Given the description of an element on the screen output the (x, y) to click on. 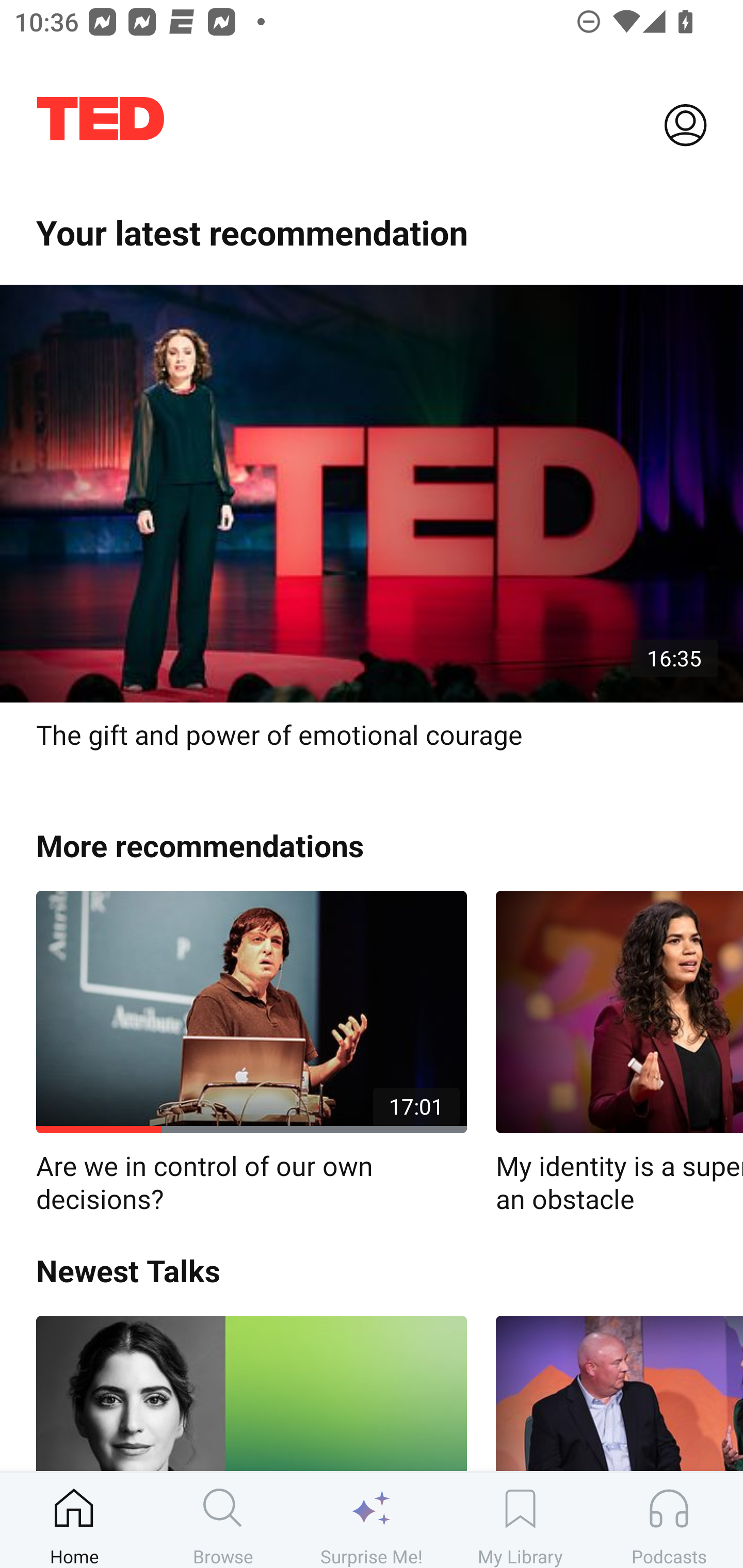
17:01 Are we in control of our own decisions? (251, 1053)
My identity is a superpower -- not an obstacle (619, 1053)
Home (74, 1520)
Browse (222, 1520)
Surprise Me! (371, 1520)
My Library (519, 1520)
Podcasts (668, 1520)
